Given the description of an element on the screen output the (x, y) to click on. 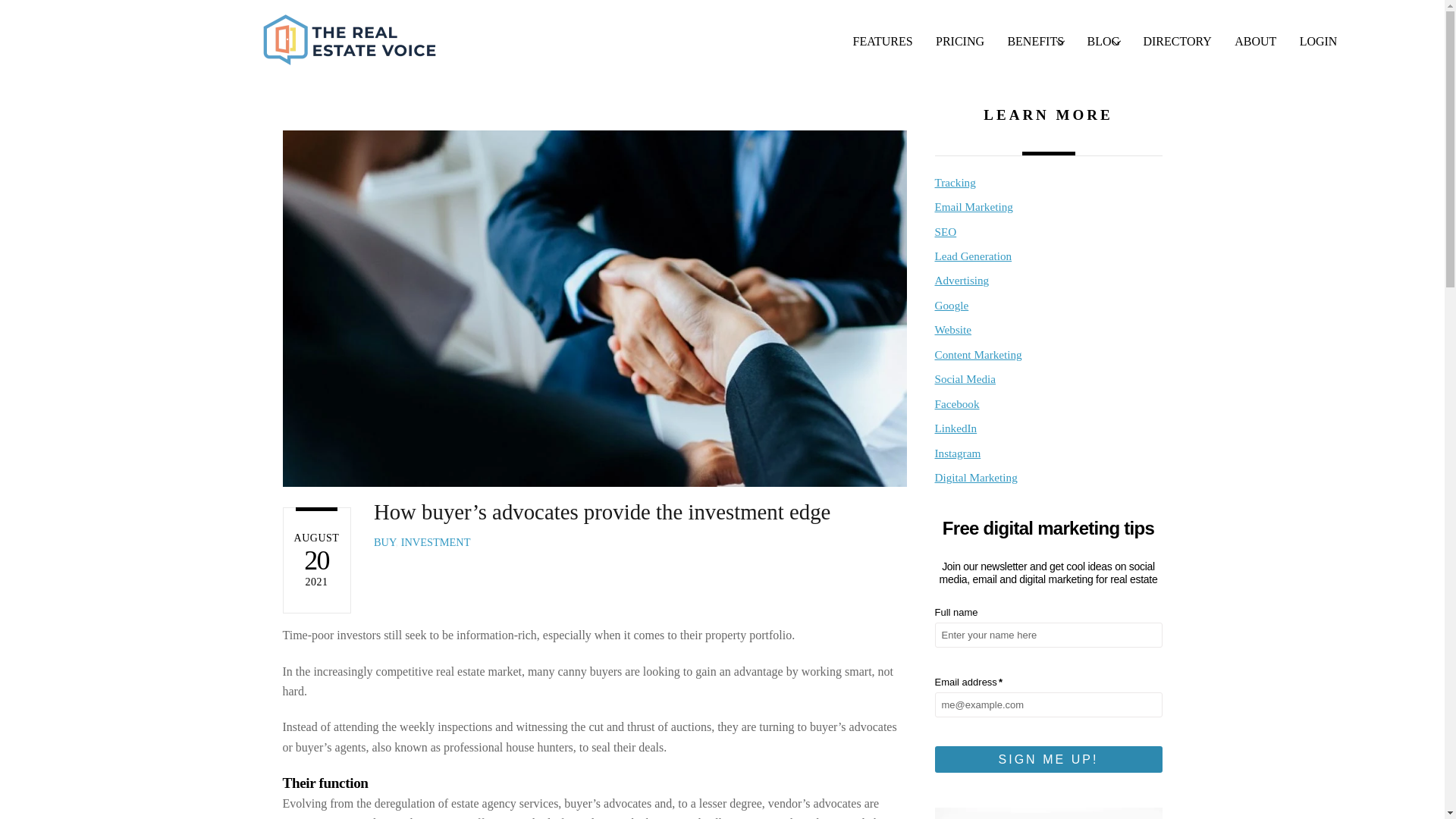
Sign me up! (1094, 42)
BENEFITS (1047, 759)
BUY (1035, 42)
FEATURES (385, 541)
INVESTMENT (882, 42)
Tracking (435, 541)
BLOG (954, 182)
DIRECTORY (1103, 42)
Email Marketing (1177, 42)
